Given the description of an element on the screen output the (x, y) to click on. 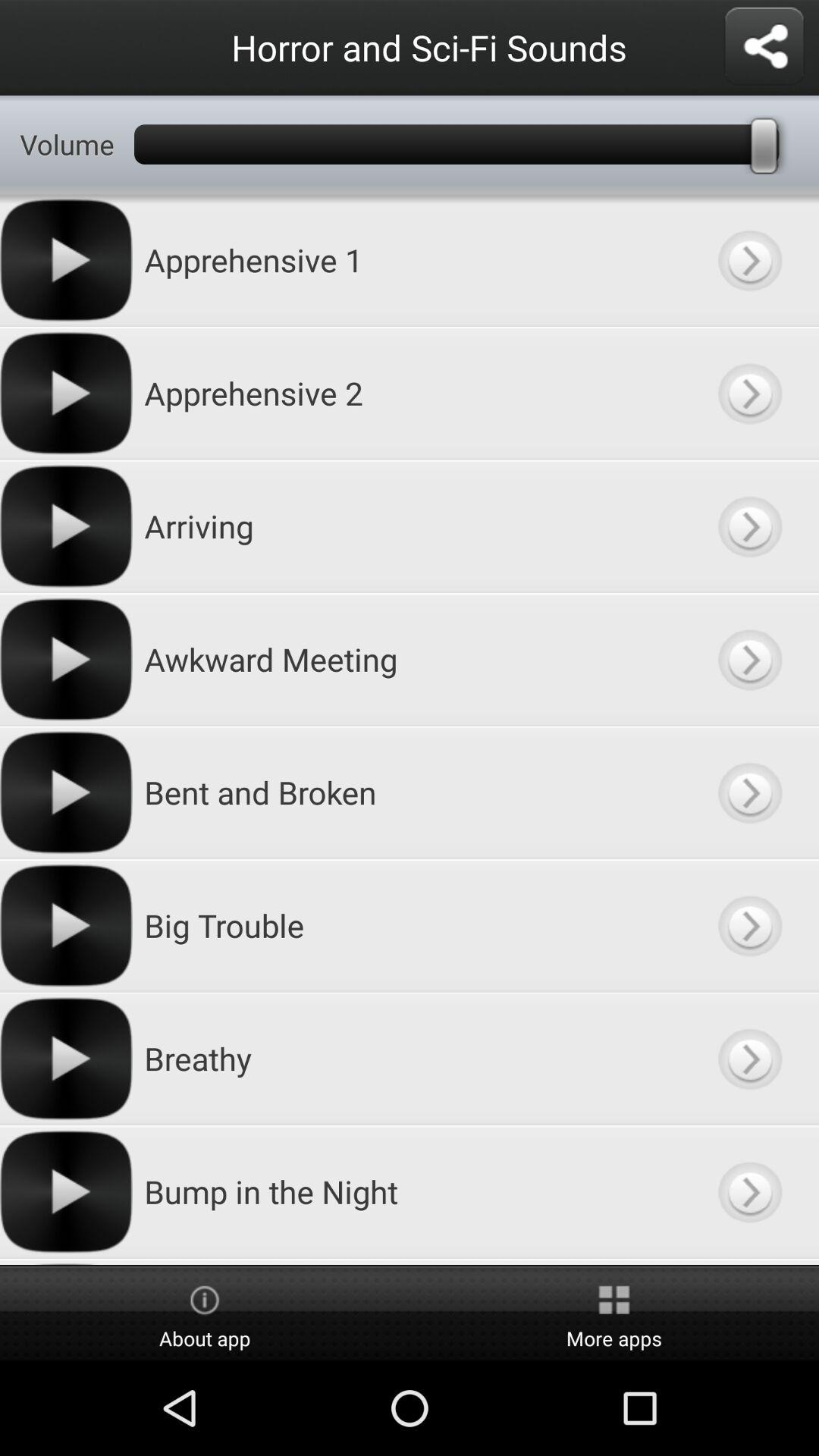
share list (764, 47)
